Given the description of an element on the screen output the (x, y) to click on. 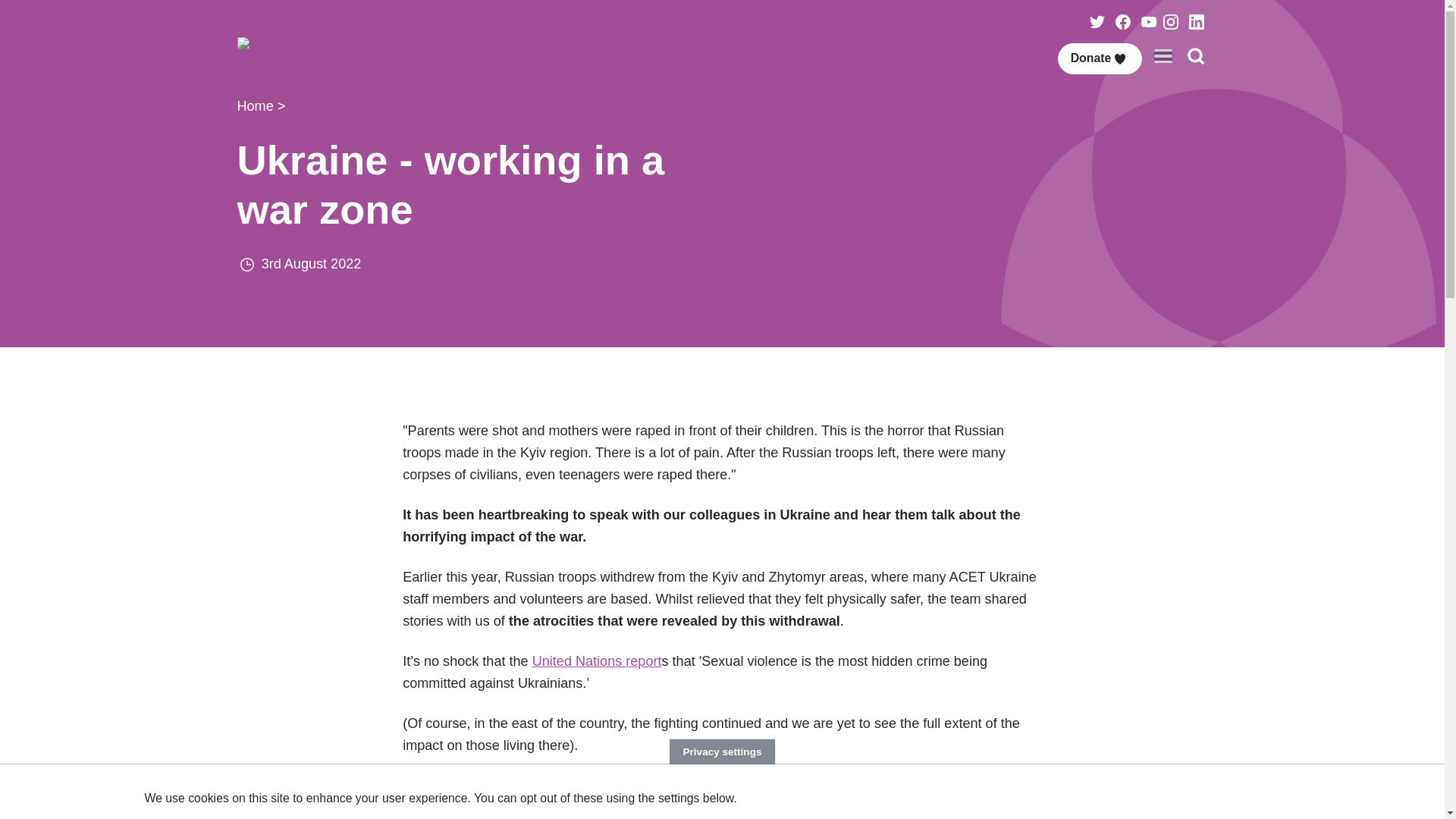
Wednesday, August 3, 2022 - 10:32 (311, 263)
